Given the description of an element on the screen output the (x, y) to click on. 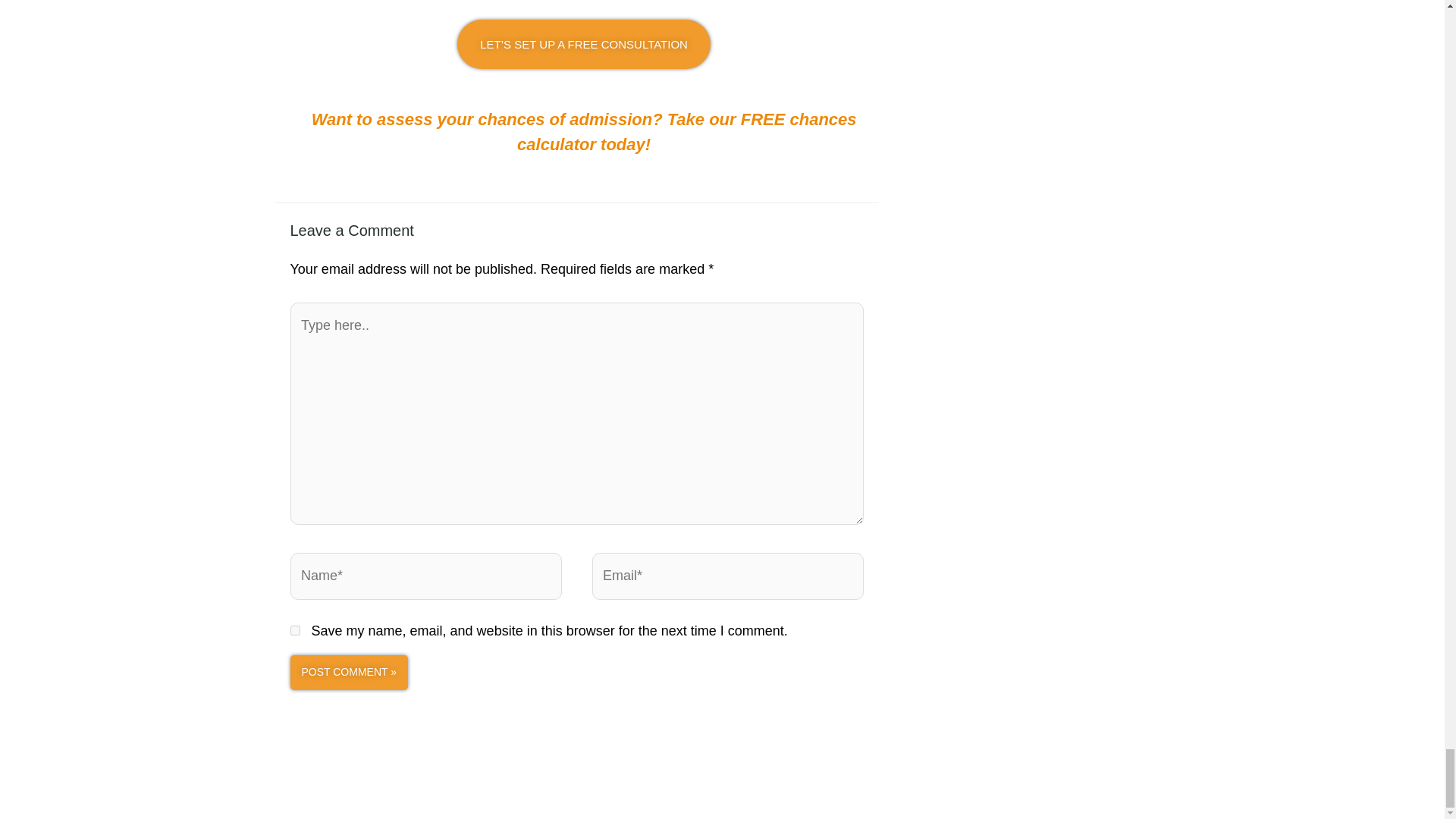
yes (294, 630)
